Given the description of an element on the screen output the (x, y) to click on. 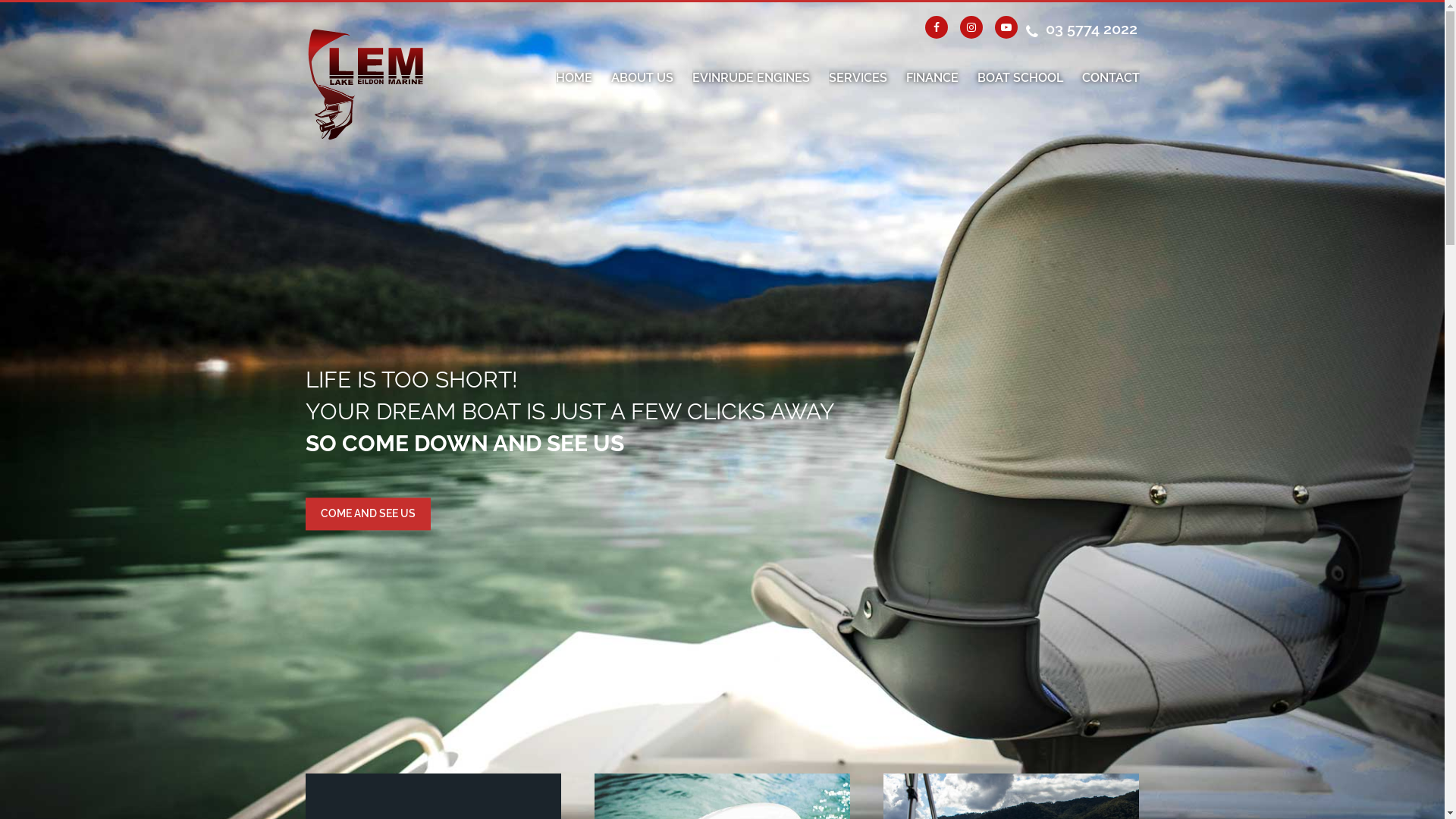
HOME Element type: text (573, 77)
COME AND SEE US Element type: text (366, 514)
ABOUT US Element type: text (642, 77)
EVINRUDE ENGINES Element type: text (750, 77)
SERVICES Element type: text (857, 77)
BOAT SCHOOL Element type: text (1019, 77)
CONTACT Element type: text (1110, 77)
FINANCE Element type: text (931, 77)
